Given the description of an element on the screen output the (x, y) to click on. 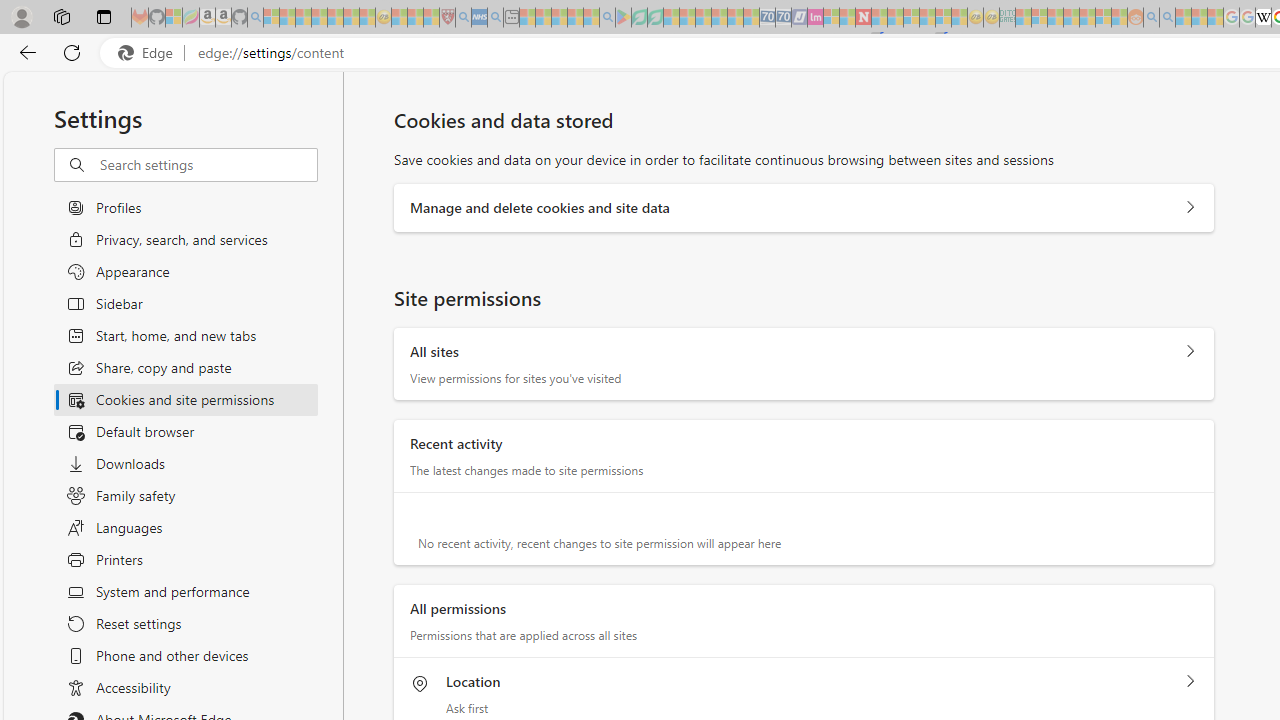
Target page - Wikipedia (1263, 17)
All sites (1190, 352)
The Weather Channel - MSN - Sleeping (303, 17)
Cheap Hotels - Save70.com - Sleeping (783, 17)
utah sues federal government - Search - Sleeping (495, 17)
Kinda Frugal - MSN - Sleeping (1087, 17)
google - Search - Sleeping (607, 17)
